Given the description of an element on the screen output the (x, y) to click on. 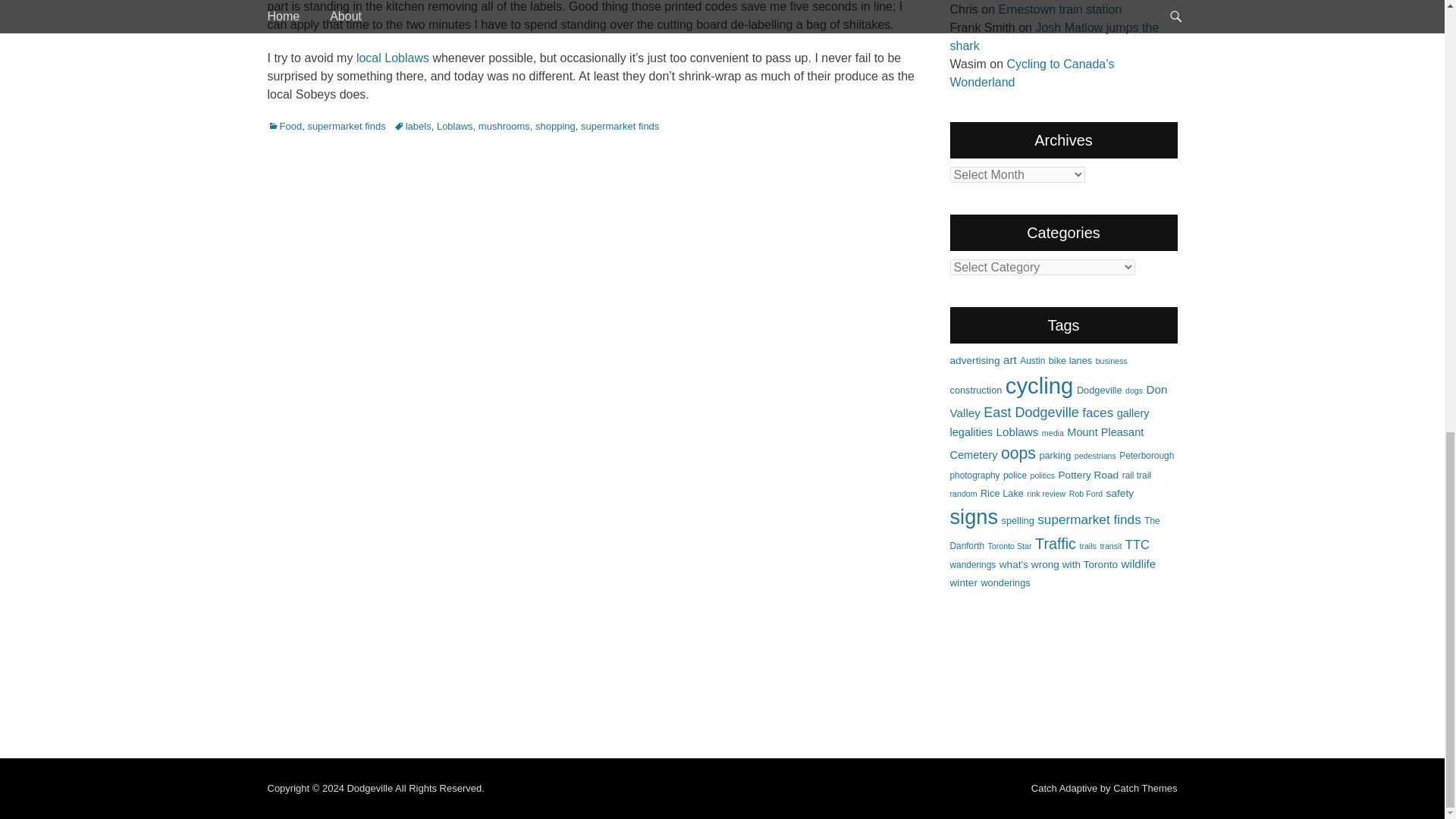
advertising (973, 360)
art (1009, 359)
Ernestown train station (1060, 9)
shopping (555, 125)
local Loblaws (392, 56)
Food (283, 125)
bike lanes (1070, 360)
cycling (1040, 385)
construction (975, 389)
supermarket finds (619, 125)
